Given the description of an element on the screen output the (x, y) to click on. 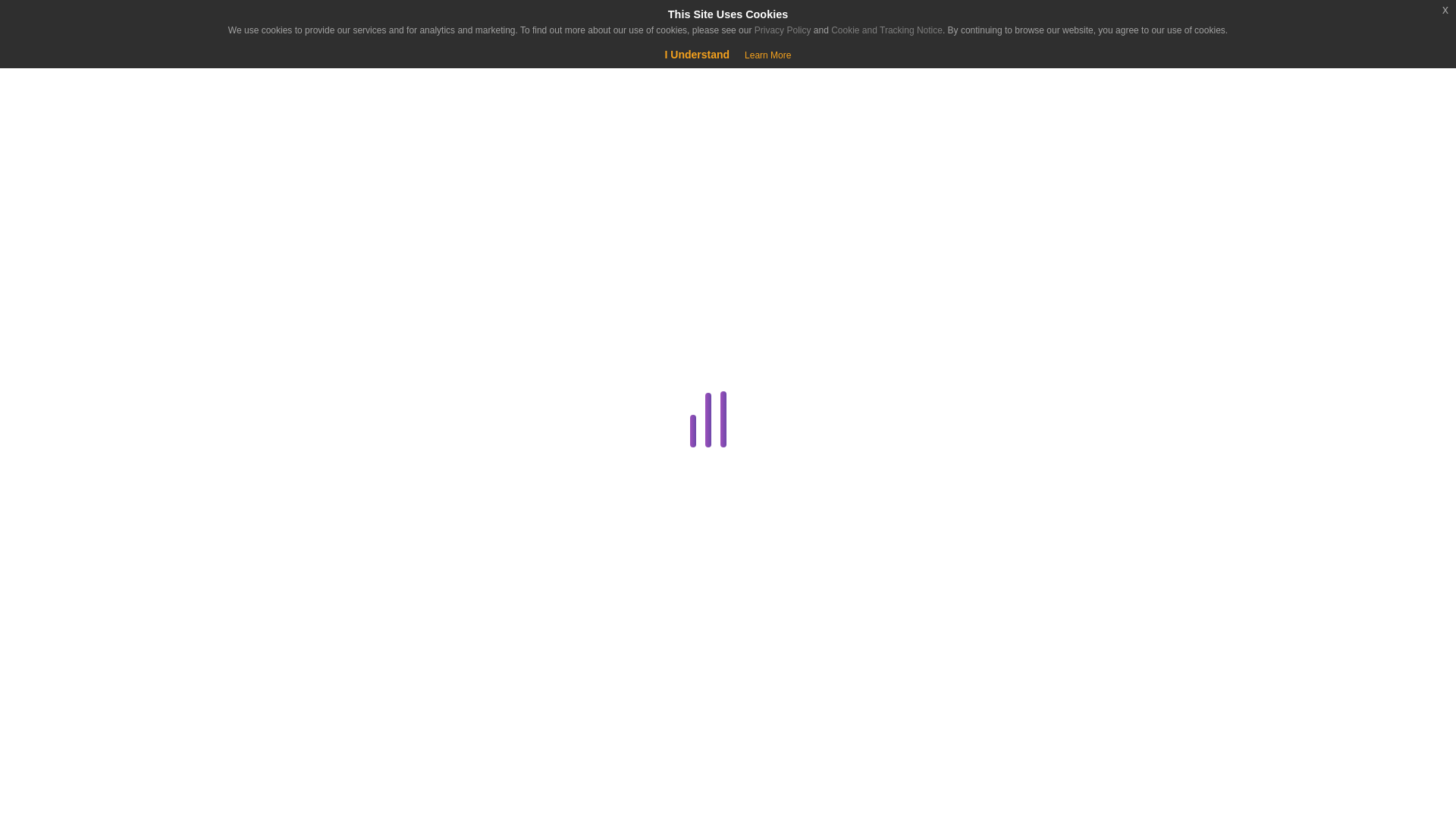
Home (94, 138)
Affiliates (283, 312)
cPanel (281, 422)
Colocation Guides (283, 385)
Domains API (283, 567)
Domains and DNS (281, 531)
Shopping Cart (59, 76)
General (281, 677)
Hesab (93, 23)
Qeydiyyat (129, 76)
Dedicated Server Guides (281, 495)
Billing (281, 349)
Email (281, 604)
FTP (283, 640)
Linux Administration (281, 750)
